Given the description of an element on the screen output the (x, y) to click on. 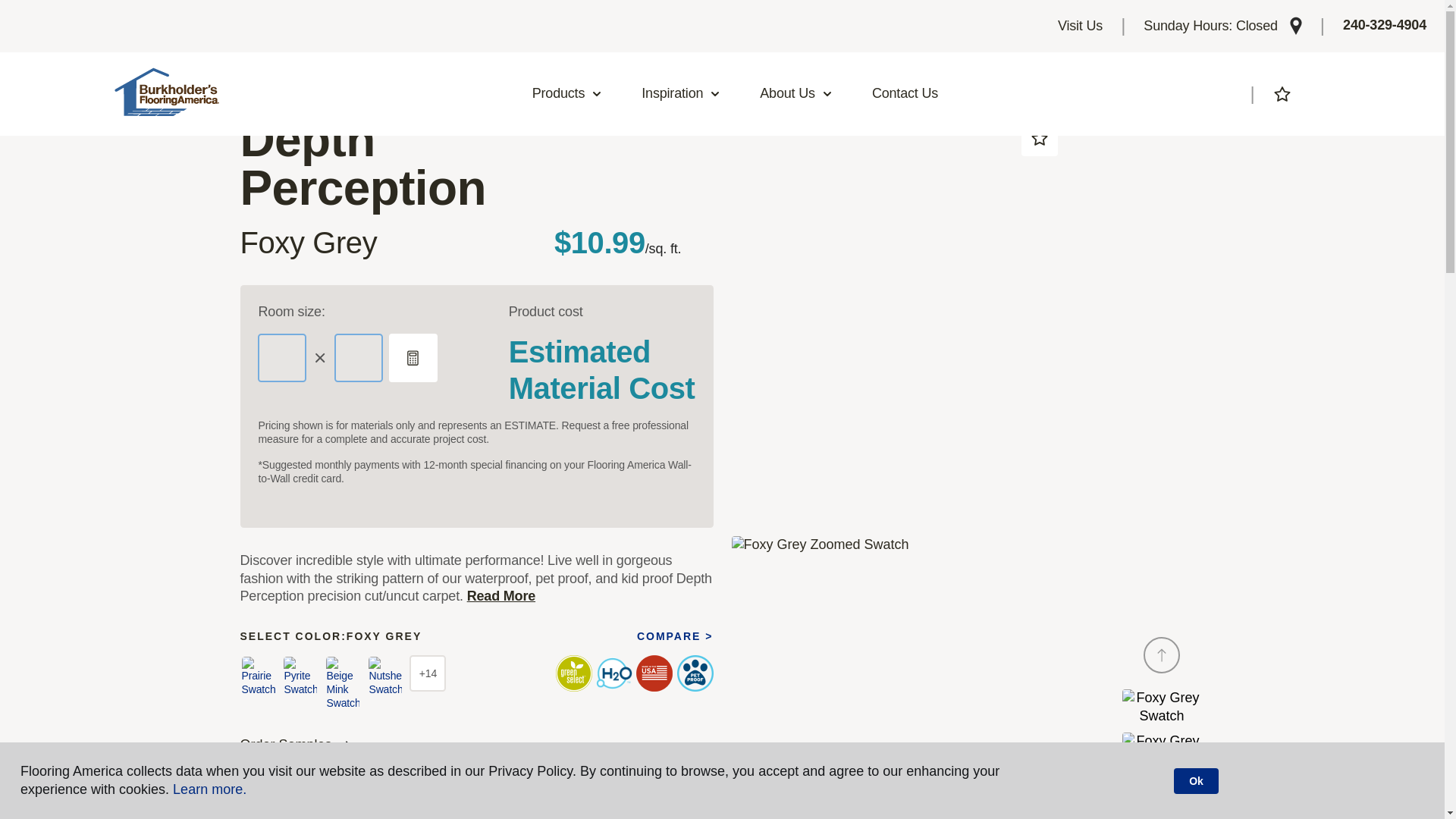
240-329-4904 (1384, 25)
Contact Us (904, 94)
Products (568, 94)
Visit Us (1080, 26)
Inspiration (681, 94)
About Us (796, 94)
